Given the description of an element on the screen output the (x, y) to click on. 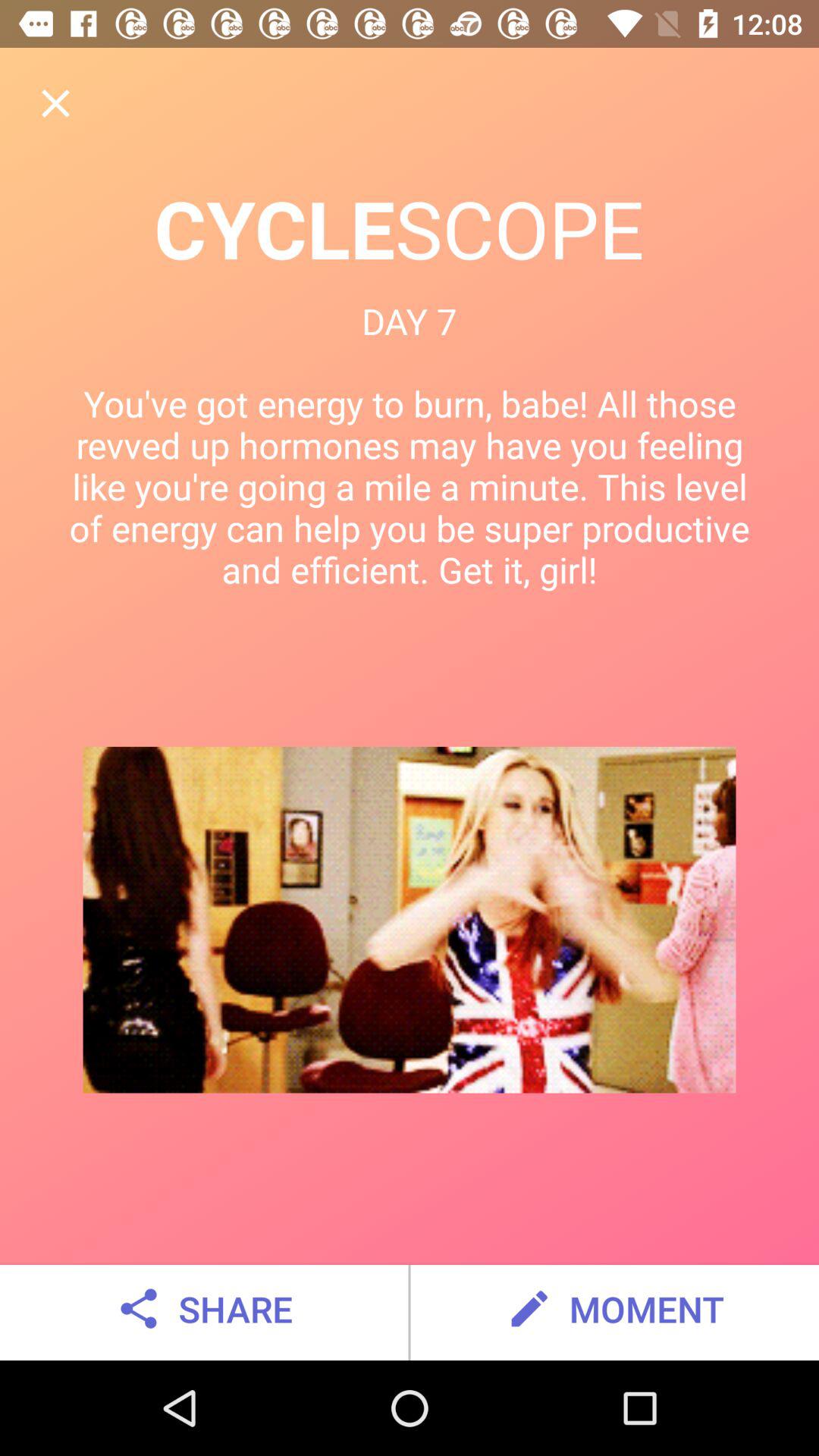
turn off the share (203, 1308)
